Given the description of an element on the screen output the (x, y) to click on. 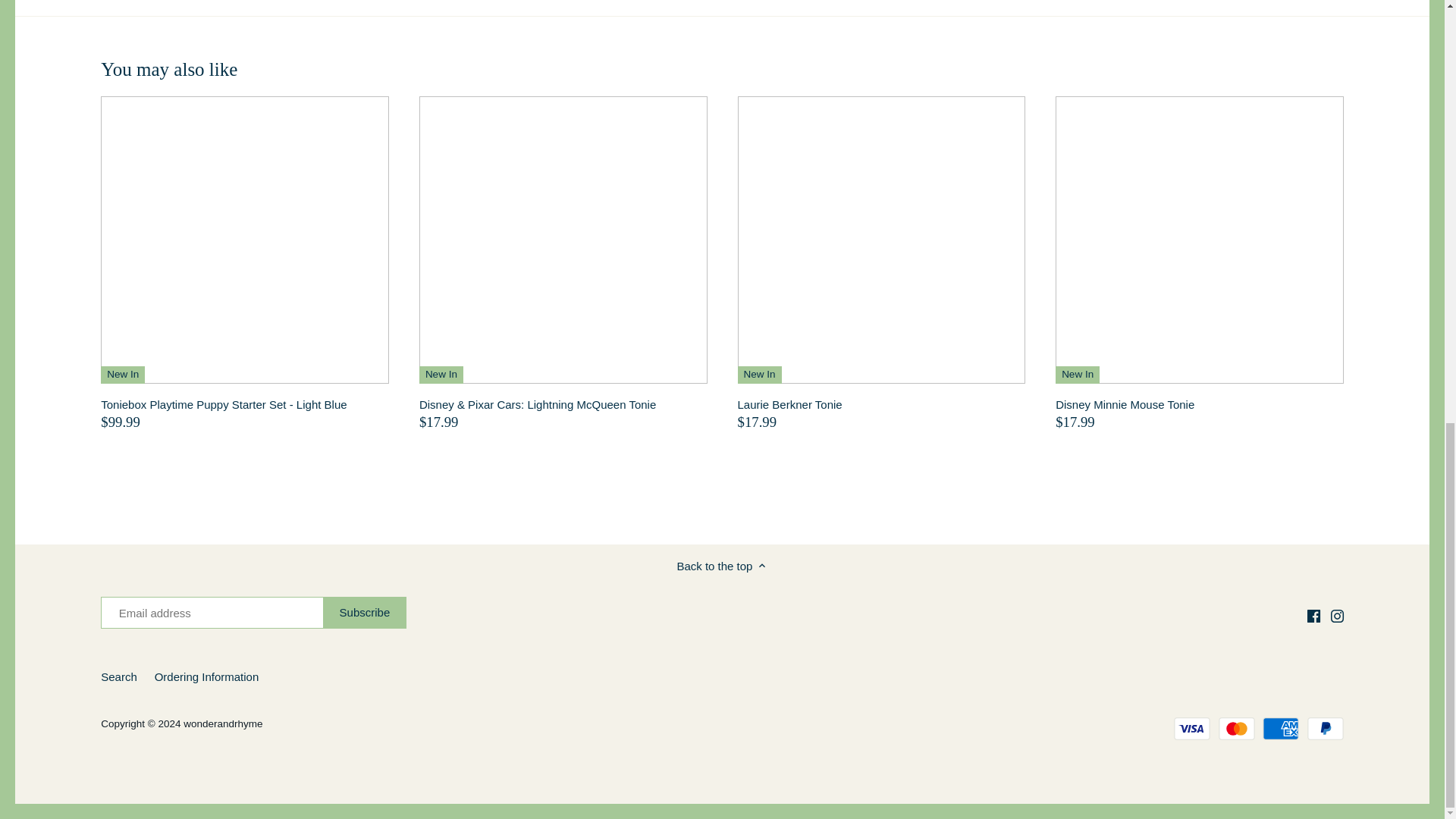
American Express (1280, 728)
Subscribe (365, 612)
Visa (1191, 728)
Mastercard (1236, 728)
Instagram (1336, 615)
PayPal (1325, 728)
Facebook (1313, 615)
